Given the description of an element on the screen output the (x, y) to click on. 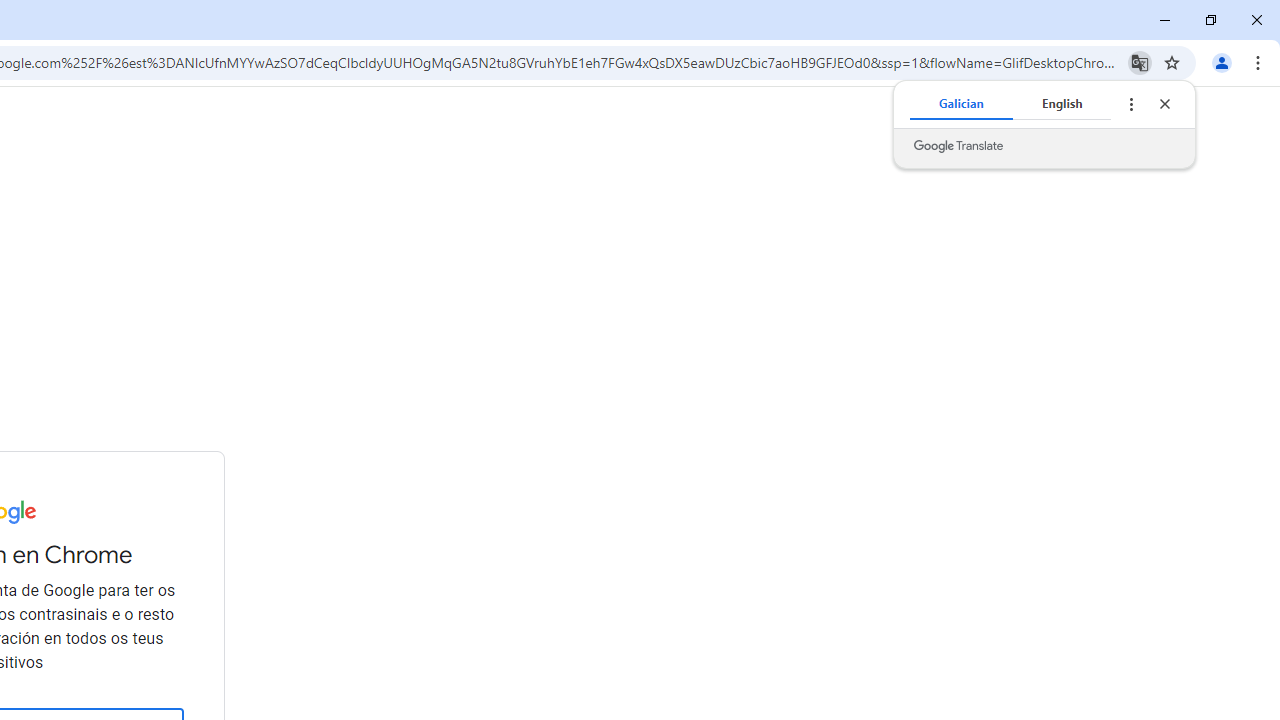
Galician (961, 103)
English (1061, 103)
Translate options (1130, 103)
Translate this page (1139, 62)
